Given the description of an element on the screen output the (x, y) to click on. 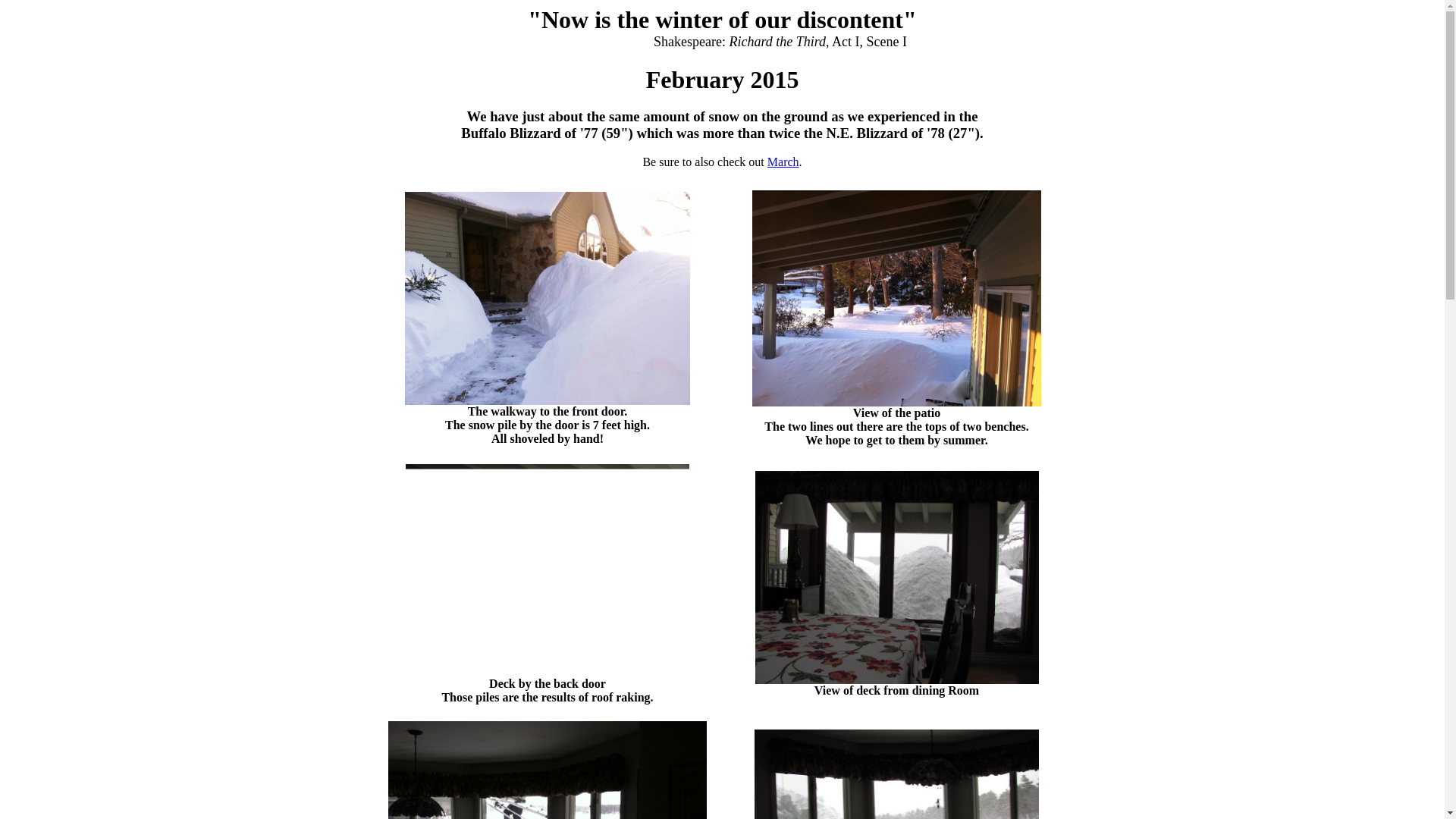
March (783, 161)
